Given the description of an element on the screen output the (x, y) to click on. 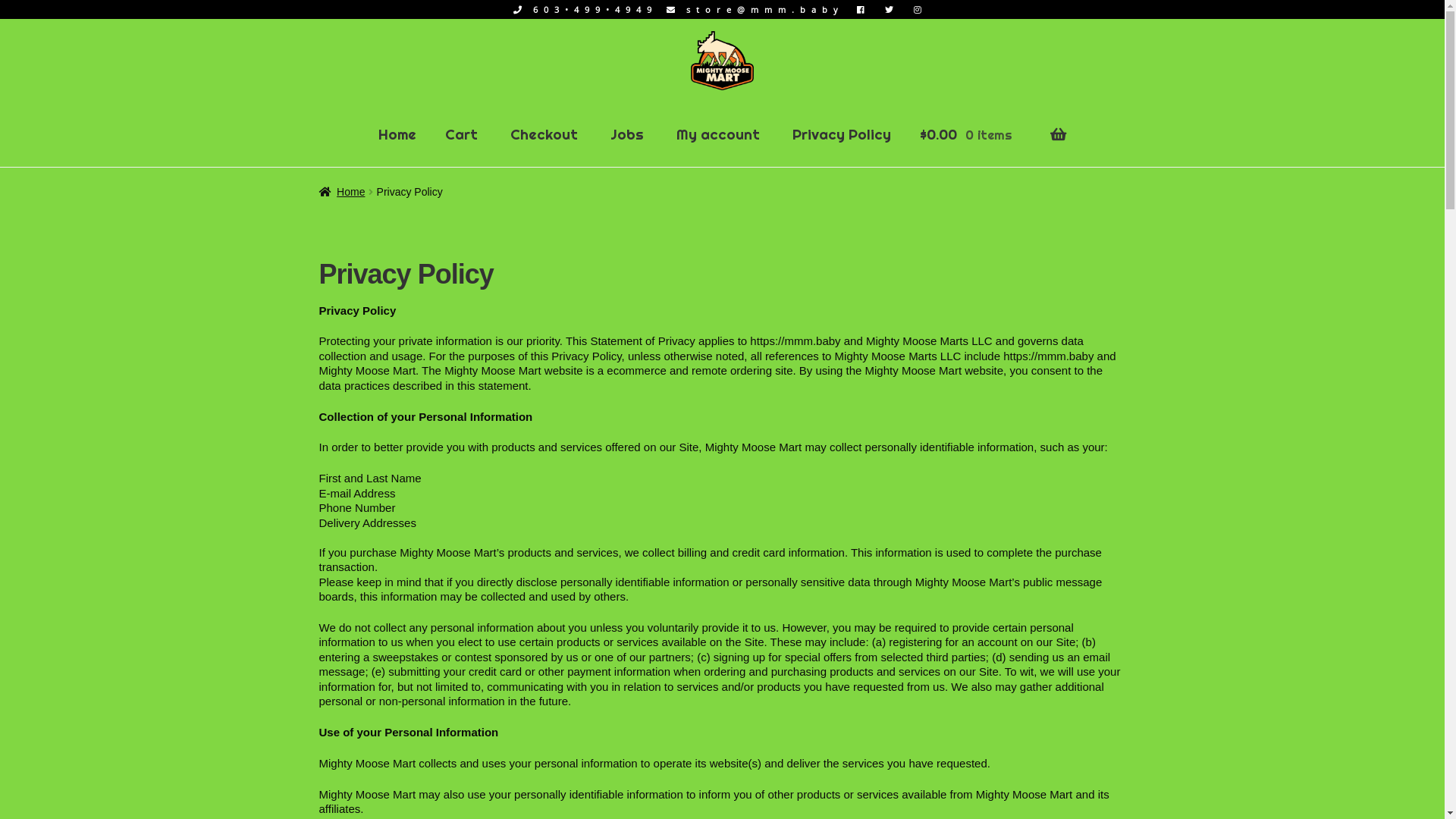
Cart Element type: text (461, 134)
$0.00 0 items Element type: text (992, 145)
Jobs Element type: text (627, 134)
Home Element type: text (397, 134)
Privacy Policy Element type: text (841, 134)
Checkout Element type: text (543, 134)
Skip to navigation Element type: text (318, 30)
store@mmm.baby Element type: text (752, 9)
Home Element type: text (342, 191)
My account Element type: text (718, 134)
